Given the description of an element on the screen output the (x, y) to click on. 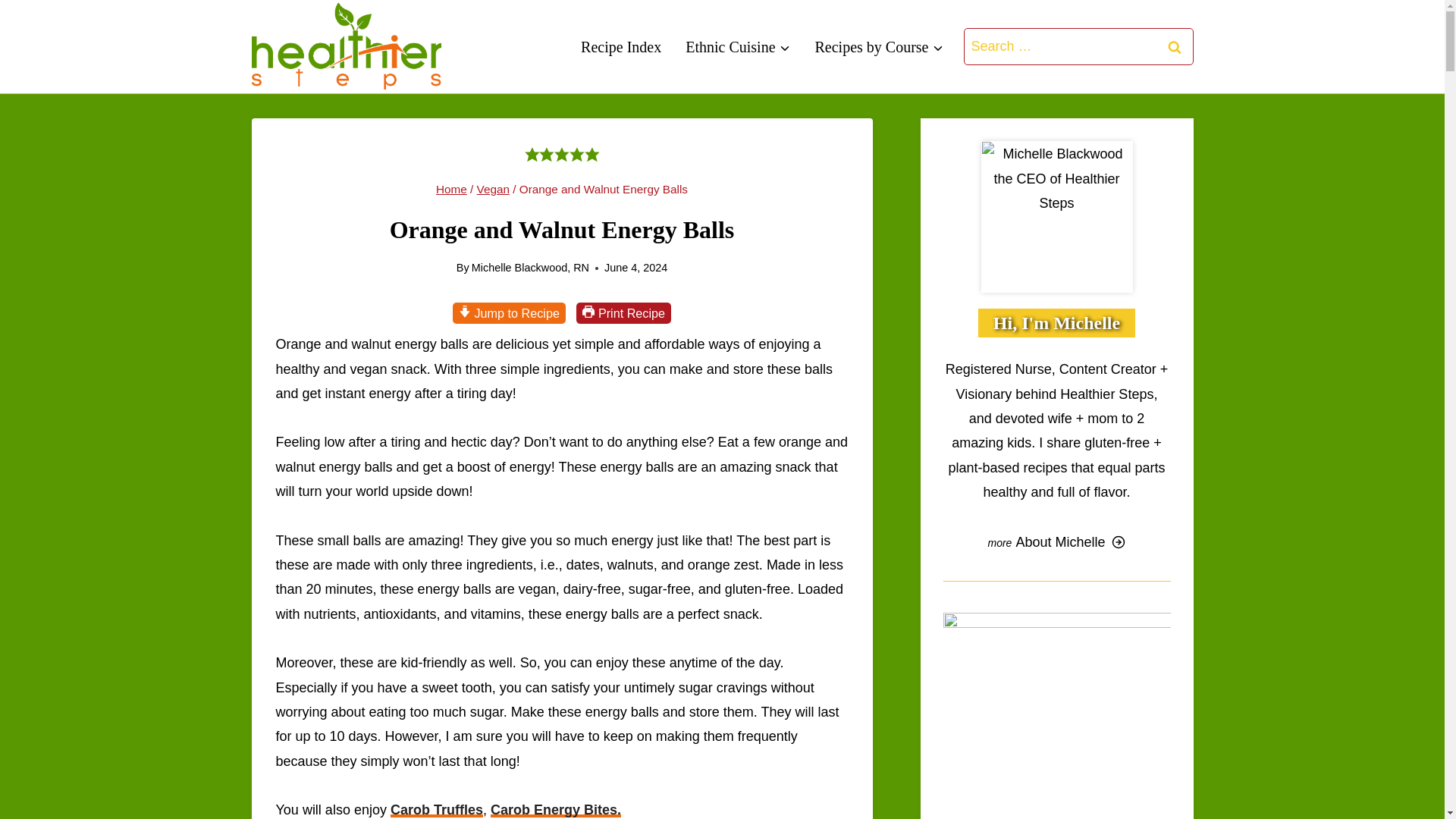
Print Recipe (623, 312)
Jump to Recipe (509, 312)
Search (1174, 46)
Carob Energy Bites. (555, 809)
Home (451, 188)
Ethnic Cuisine (737, 46)
Search (1174, 46)
Michelle Blackwood, RN (530, 267)
Vegan (493, 188)
Recipes by Course (879, 46)
Recipe Index (620, 46)
Search (1174, 46)
Carob Truffles (436, 809)
